Given the description of an element on the screen output the (x, y) to click on. 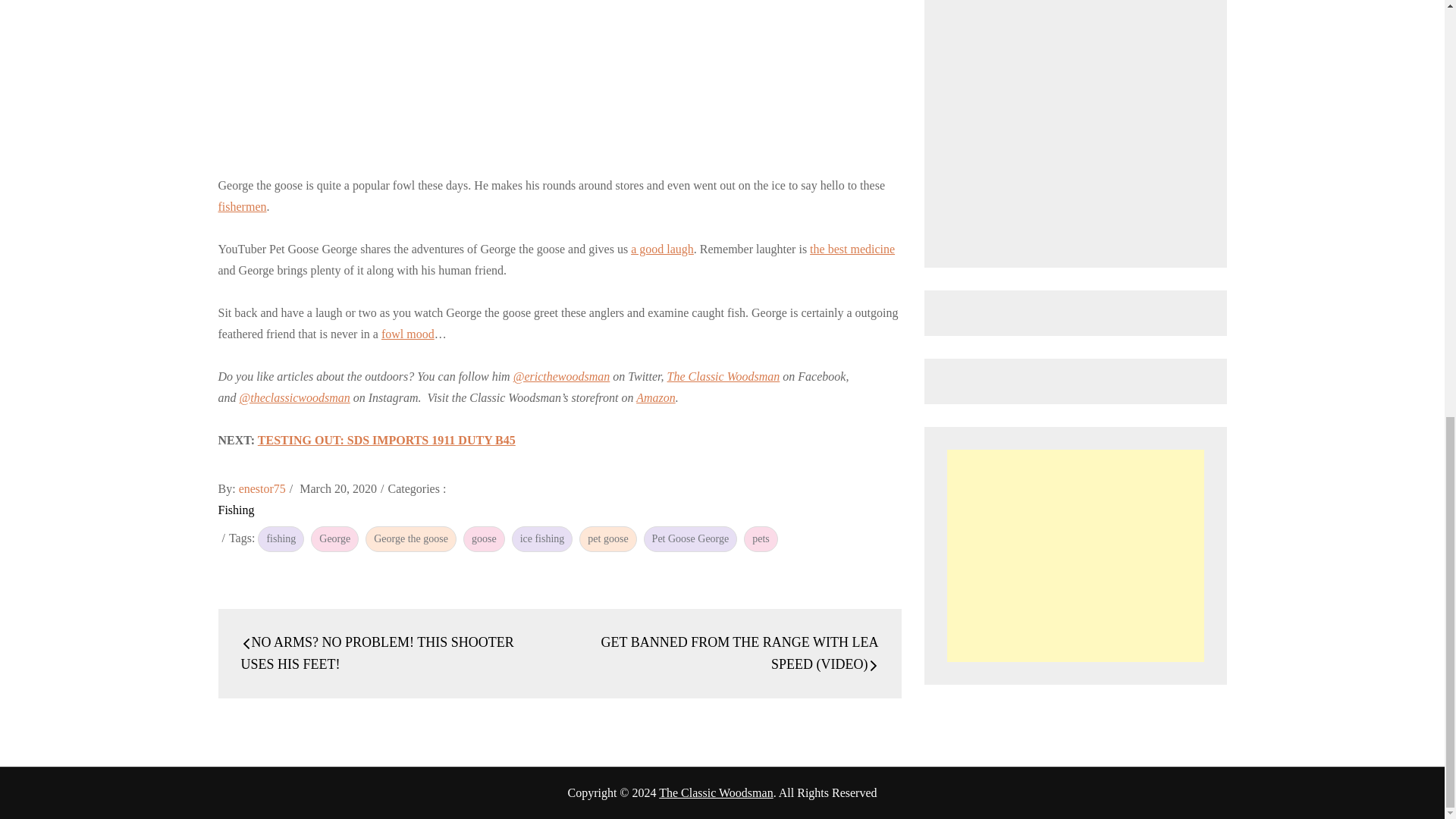
Advertisement (1075, 555)
fishermen (242, 205)
enestor75 (261, 488)
George (334, 539)
fishing (280, 539)
Amazon (655, 397)
The Classic Woodsman (716, 792)
The Classic Woodsman (723, 376)
ice fishing (542, 539)
March 20, 2020 (338, 488)
